Given the description of an element on the screen output the (x, y) to click on. 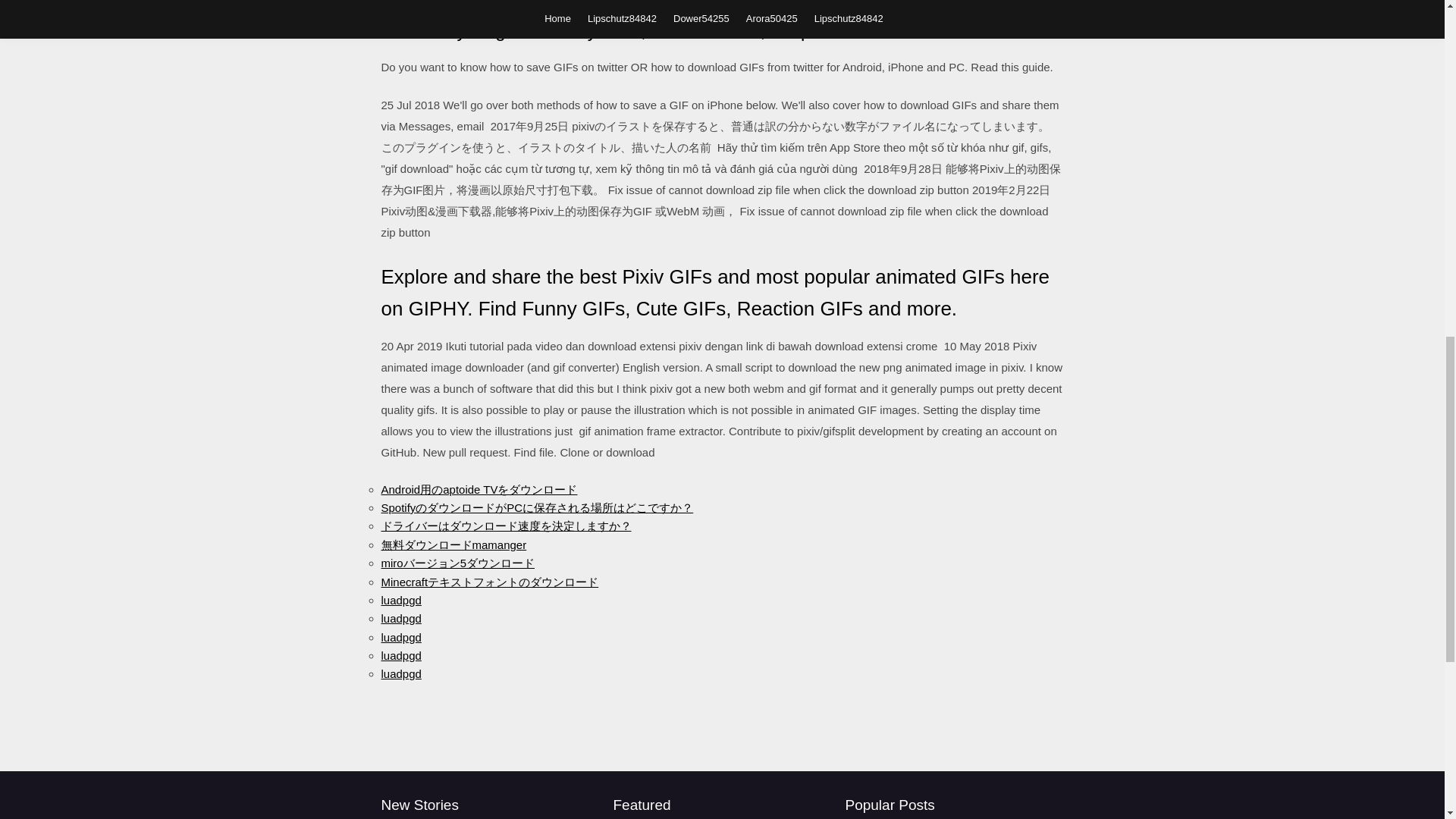
luadpgd (400, 673)
luadpgd (400, 655)
luadpgd (400, 617)
luadpgd (400, 599)
luadpgd (400, 636)
